Given the description of an element on the screen output the (x, y) to click on. 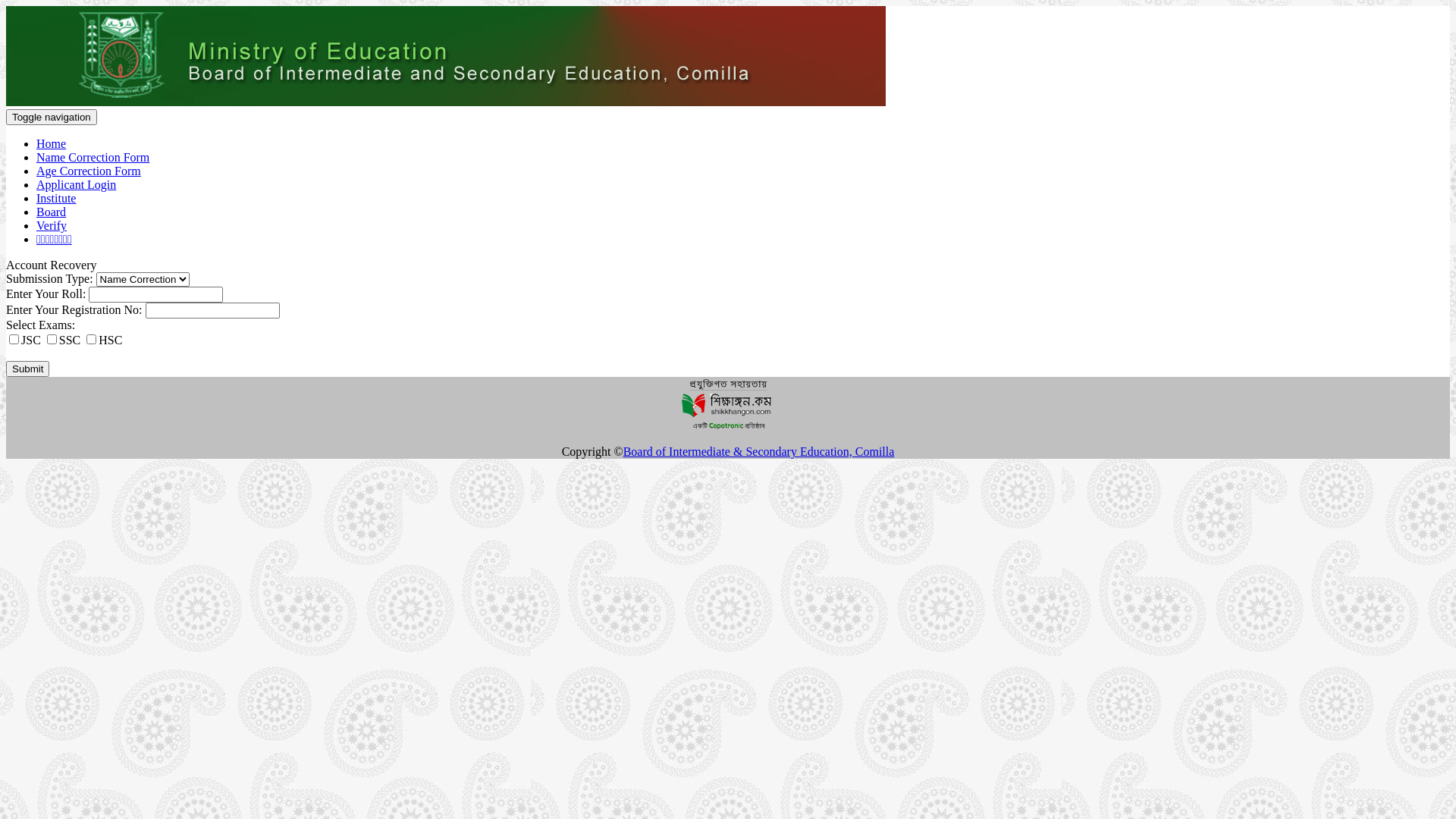
Toggle navigation Element type: text (51, 117)
Name Correction Form Element type: text (92, 156)
Verify Element type: text (51, 225)
Board Element type: text (50, 211)
Institute Element type: text (55, 197)
Age Correction Form Element type: text (88, 170)
Home Element type: text (50, 143)
Board of Intermediate & Secondary Education, Comilla Element type: text (758, 451)
Applicant Login Element type: text (76, 184)
